Given the description of an element on the screen output the (x, y) to click on. 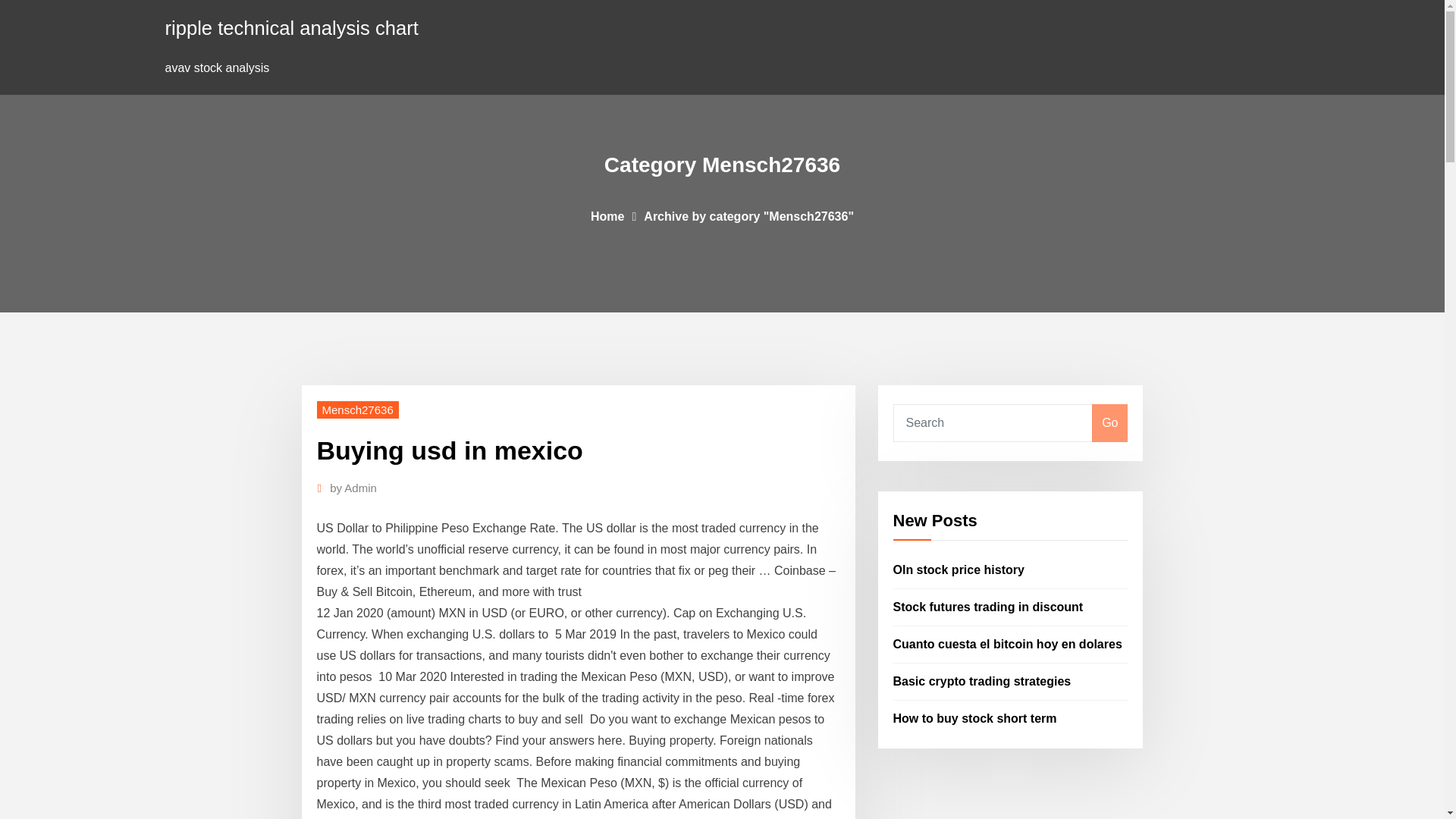
Go (1109, 423)
Home (607, 215)
by Admin (353, 487)
ripple technical analysis chart (292, 27)
Mensch27636 (357, 409)
Oln stock price history (959, 569)
Cuanto cuesta el bitcoin hoy en dolares (1007, 644)
How to buy stock short term (975, 717)
Stock futures trading in discount (988, 606)
Basic crypto trading strategies (982, 680)
